Given the description of an element on the screen output the (x, y) to click on. 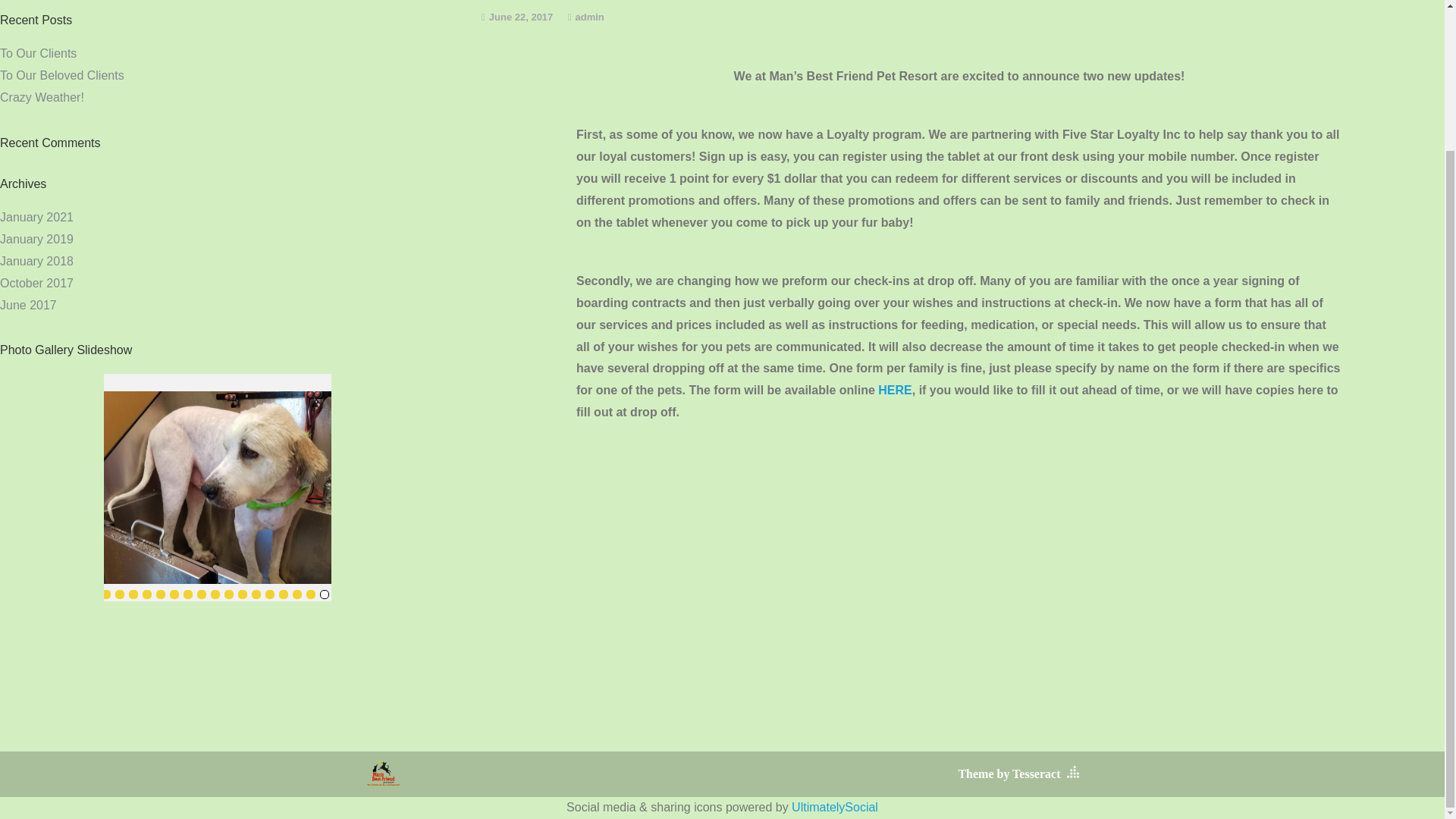
Theme by Tesseract (1008, 773)
January 2018 (37, 260)
To Our Beloved Clients (61, 74)
To Our Clients (38, 52)
UltimatelySocial (834, 807)
Crazy Weather! (42, 97)
January 2021 (37, 216)
HERE (894, 390)
October 2017 (37, 282)
June 2017 (28, 305)
January 2019 (37, 238)
